Given the description of an element on the screen output the (x, y) to click on. 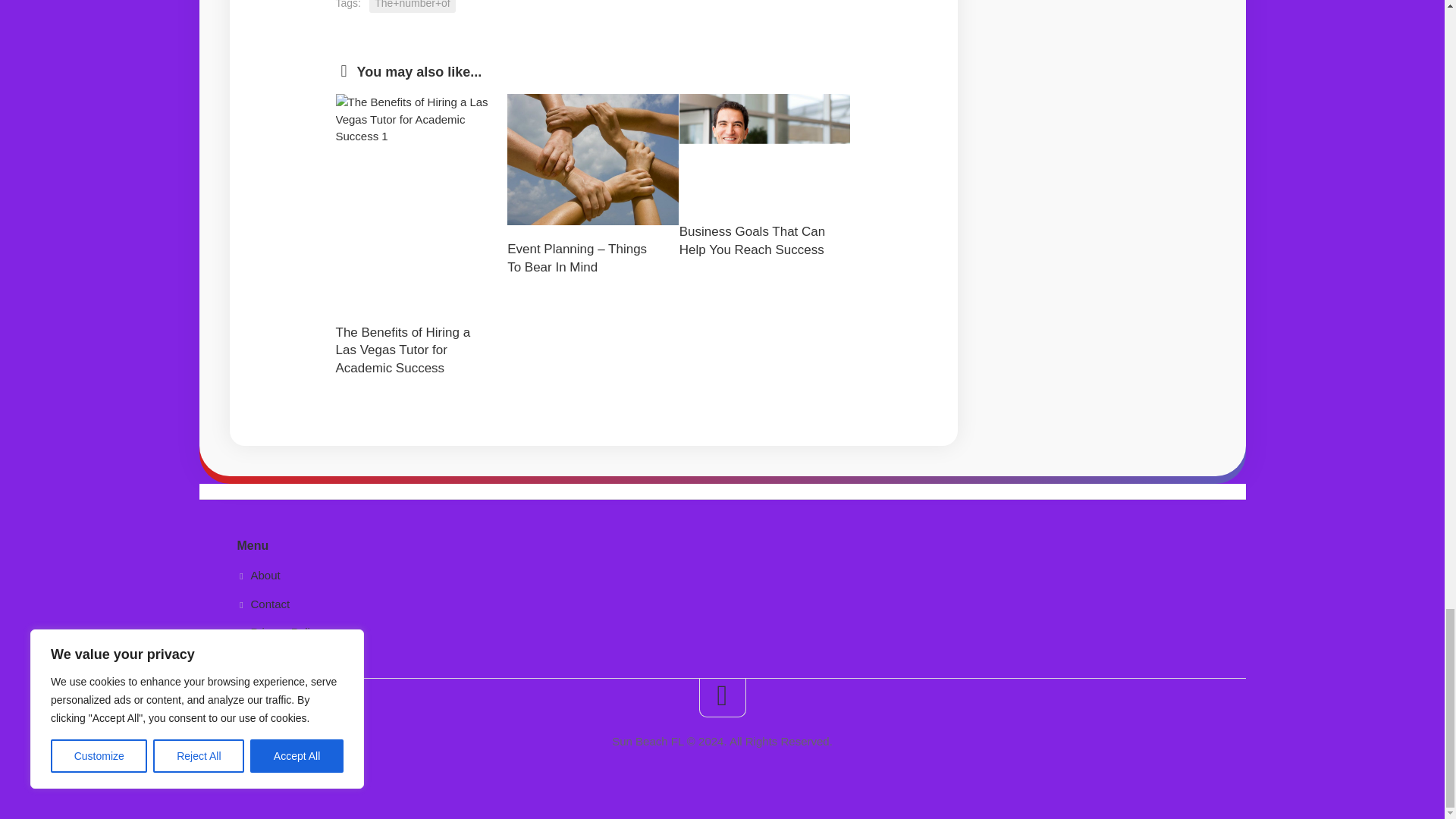
Business Goals That Can Help You Reach Success (752, 240)
